Given the description of an element on the screen output the (x, y) to click on. 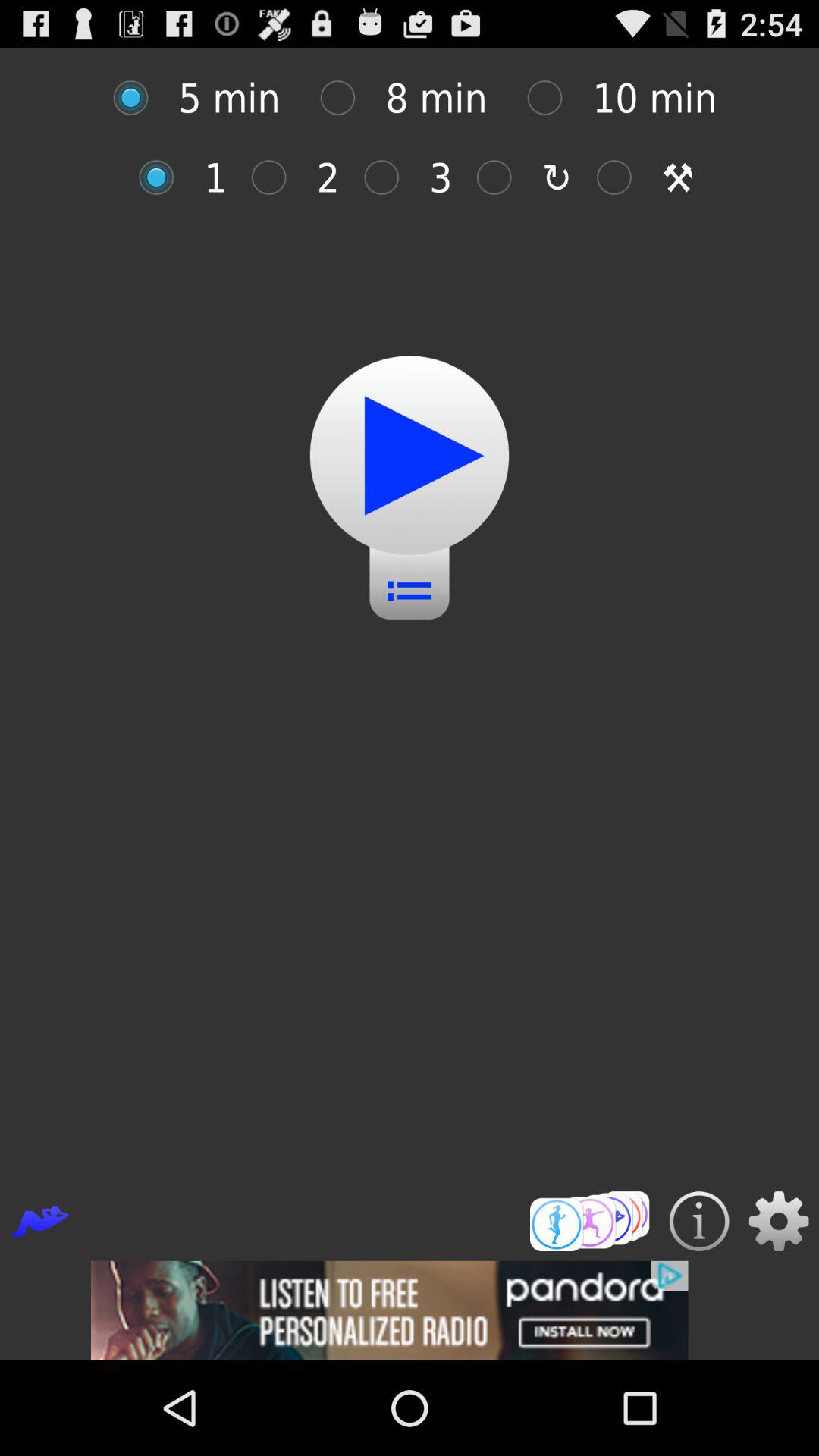
option (138, 97)
